Given the description of an element on the screen output the (x, y) to click on. 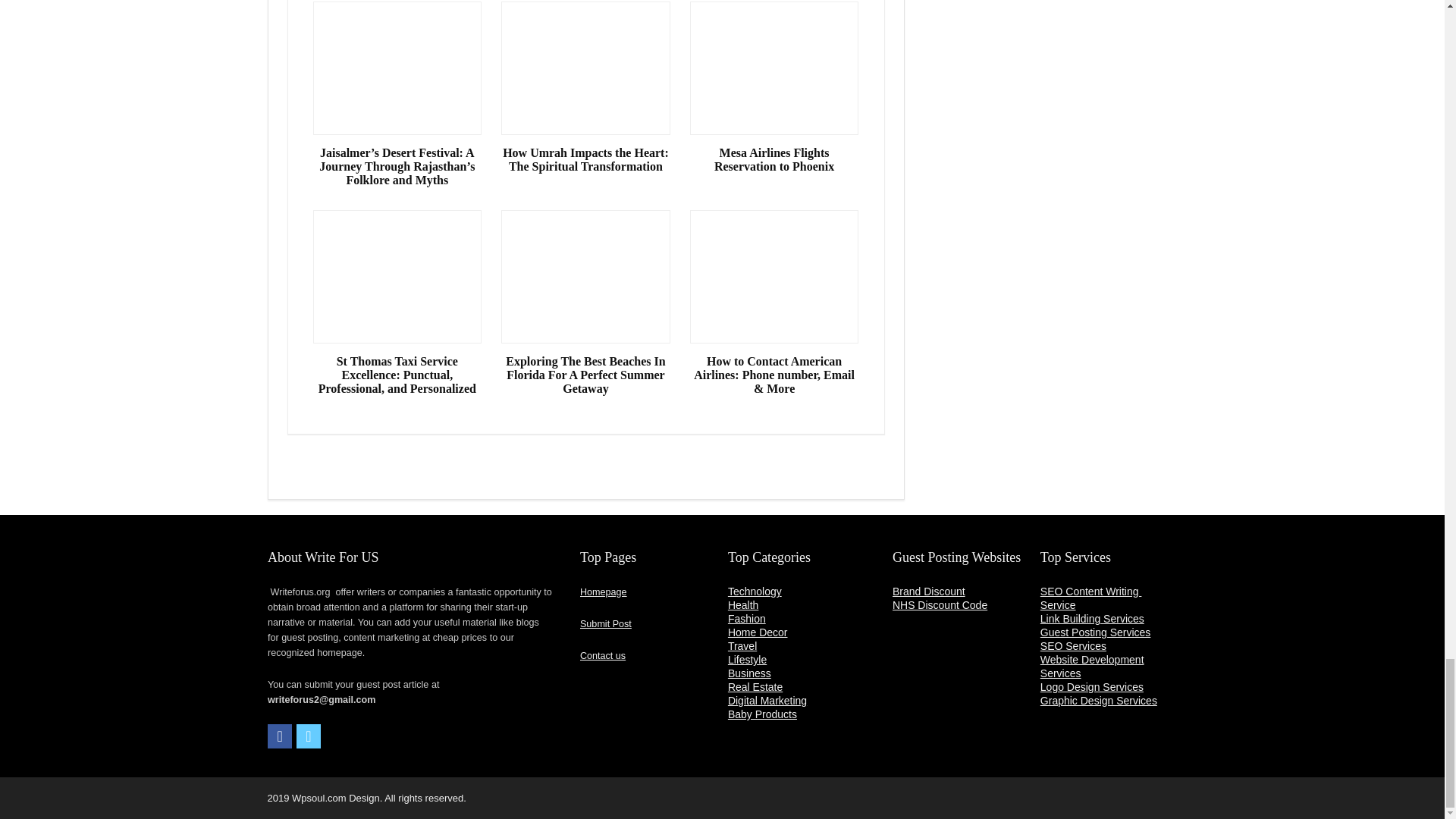
How Umrah Impacts the Heart: The Spiritual Transformation (584, 159)
Mesa Airlines Flights Reservation to Phoenix (774, 159)
